Given the description of an element on the screen output the (x, y) to click on. 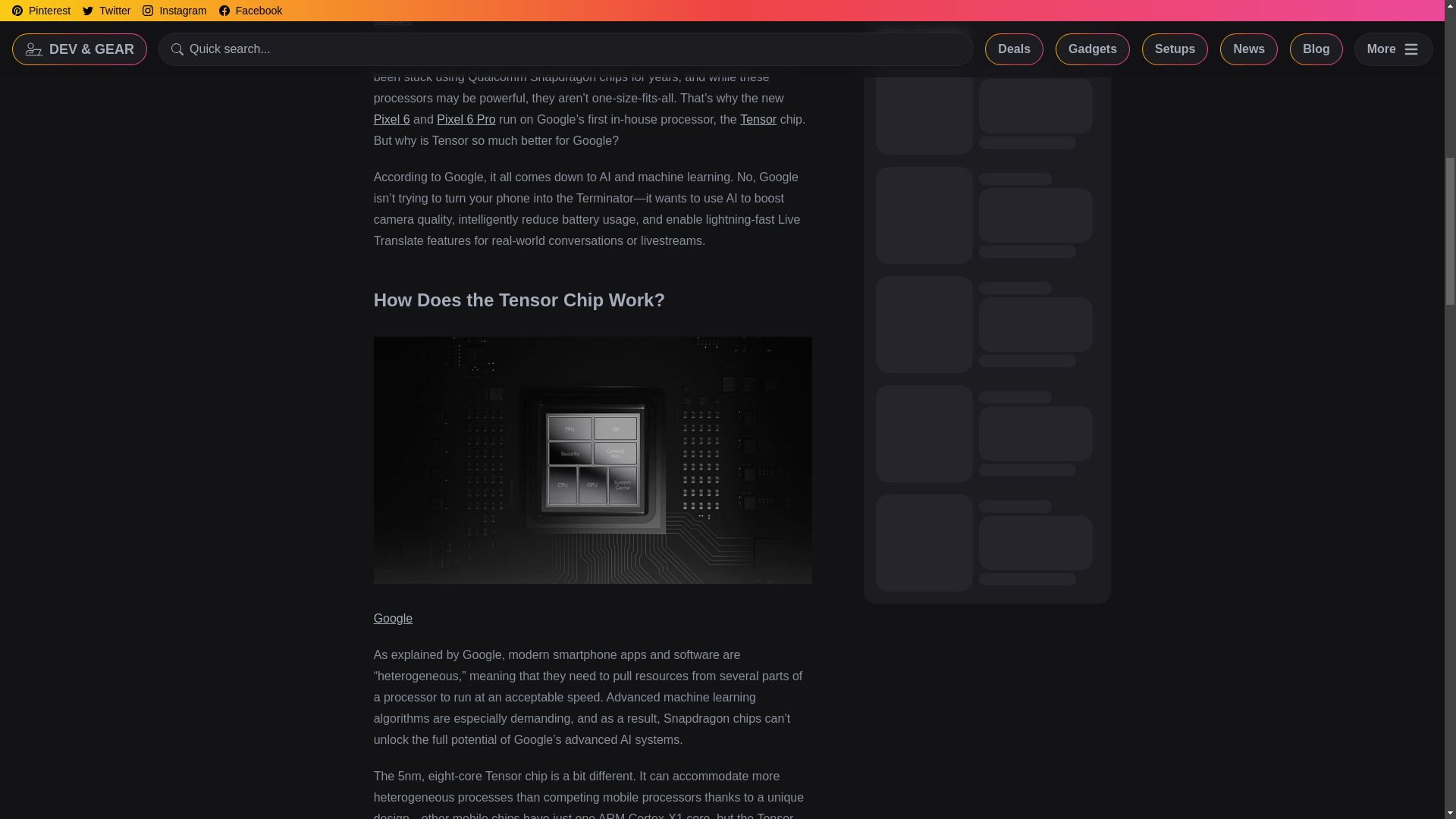
Pixel 6 (392, 119)
Tensor (757, 119)
Google (393, 617)
Pixel 6 Pro (465, 119)
Google (393, 19)
